Given the description of an element on the screen output the (x, y) to click on. 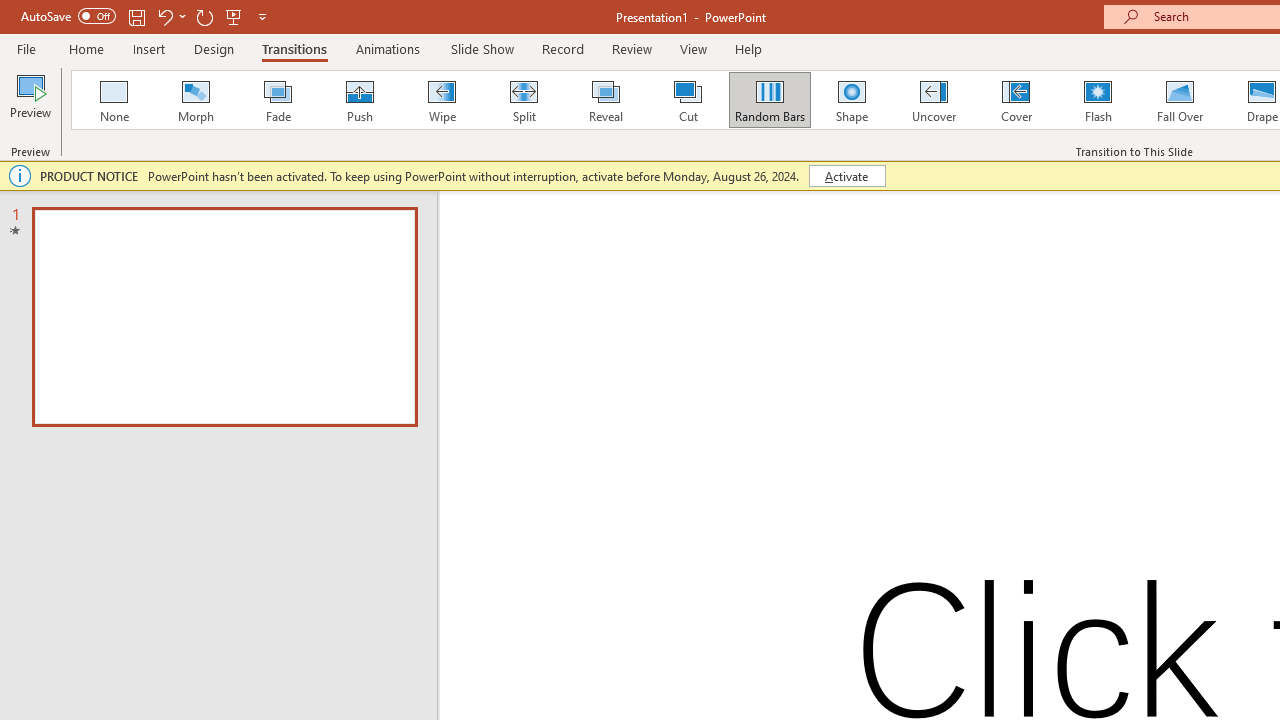
Push (359, 100)
Uncover (934, 100)
Reveal (605, 100)
Fall Over (1180, 100)
